Given the description of an element on the screen output the (x, y) to click on. 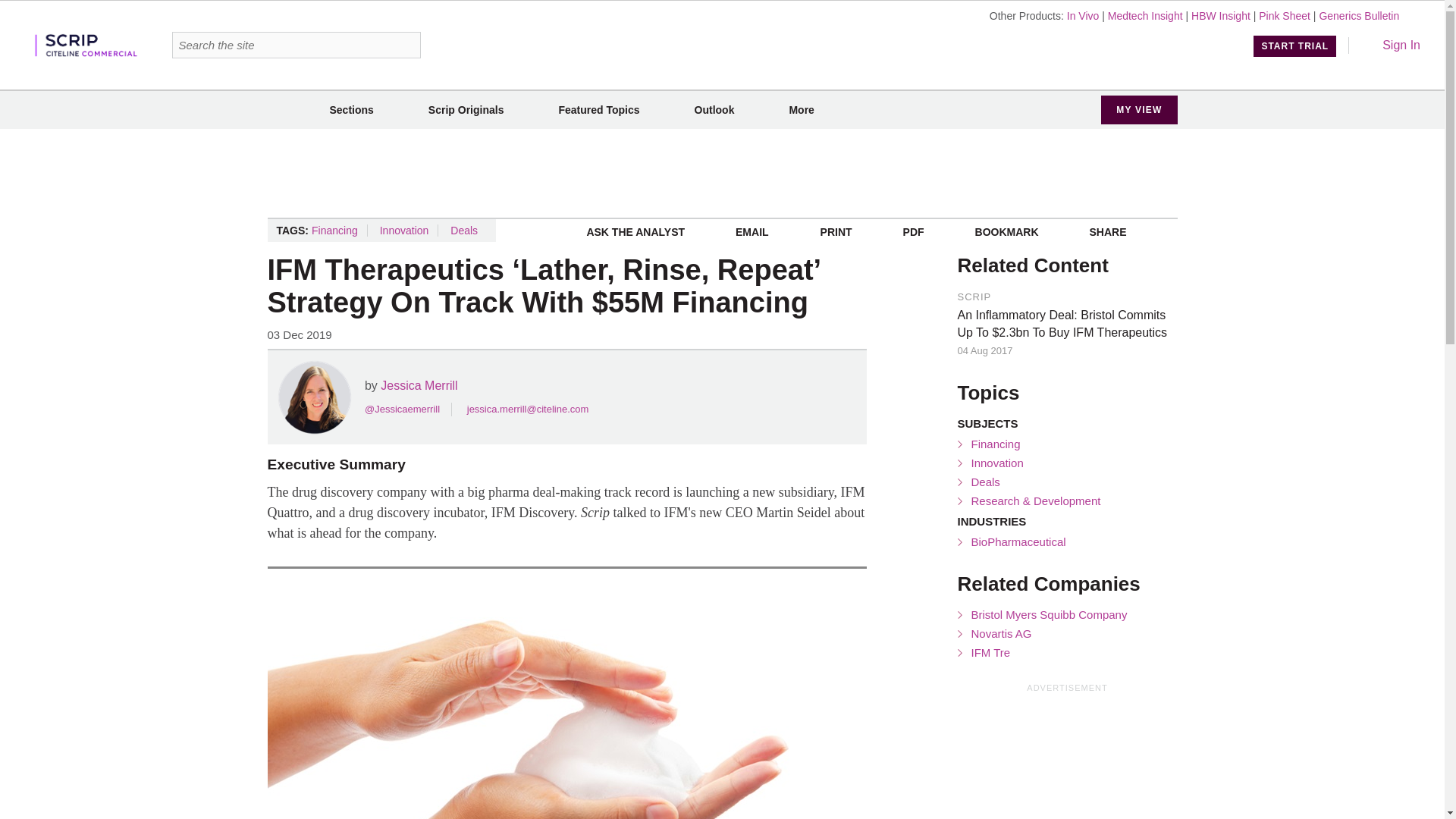
In Vivo (1083, 15)
3rd party ad content (721, 173)
Medtech Insight (1145, 15)
Sign In (1391, 44)
3rd party ad content (1070, 757)
Generics Bulletin (1359, 15)
START TRIAL (1294, 46)
Pink Sheet (1284, 15)
HBW Insight (1220, 15)
